Given the description of an element on the screen output the (x, y) to click on. 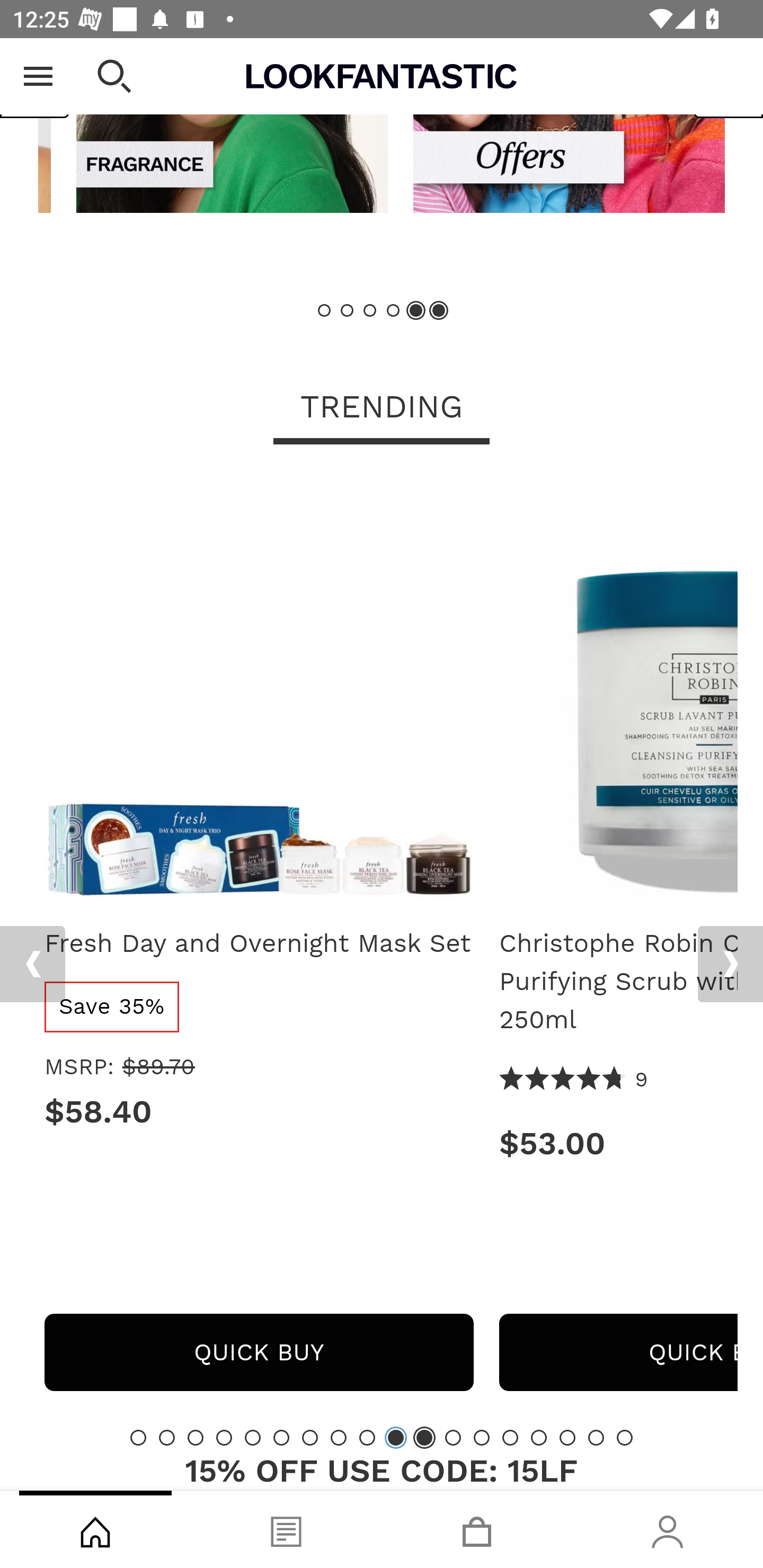
Previous (35, 78)
Slide 1 (324, 311)
Slide 2 (347, 311)
Slide 3 (369, 311)
Slide 4 (393, 311)
Showing Slide 5 (Current Item) (415, 311)
Showing Slide 6 (Current Item) (437, 311)
TRENDING (381, 408)
Fresh Day and Overnight Mask Set (258, 690)
Fresh Day and Overnight Mask Set (258, 943)
Previous (32, 964)
Next (730, 964)
Save 35%, read more (111, 1006)
4.78 Stars 9 Reviews (573, 1079)
Price: $53.00 (618, 1143)
QUICK BUY FRESH DAY AND OVERNIGHT MASK SET (258, 1352)
Slide 1 (138, 1436)
Slide 2 (166, 1436)
Slide 3 (195, 1436)
Slide 4 (223, 1436)
Slide 5 (252, 1436)
Slide 6 (281, 1436)
Slide 7 (310, 1436)
Slide 8 (338, 1436)
Slide 9 (367, 1436)
Showing Slide 10 (Current Item) (395, 1436)
Showing Slide 11 (Current Item) (424, 1436)
Slide 12 (452, 1436)
Slide 13 (481, 1436)
Slide 14 (510, 1436)
Slide 15 (539, 1436)
Slide 16 (567, 1436)
Slide 17 (596, 1436)
Slide 18 (624, 1436)
Shop, tab, 1 of 4 (95, 1529)
Blog, tab, 2 of 4 (285, 1529)
Basket, tab, 3 of 4 (476, 1529)
Account, tab, 4 of 4 (667, 1529)
